Given the description of an element on the screen output the (x, y) to click on. 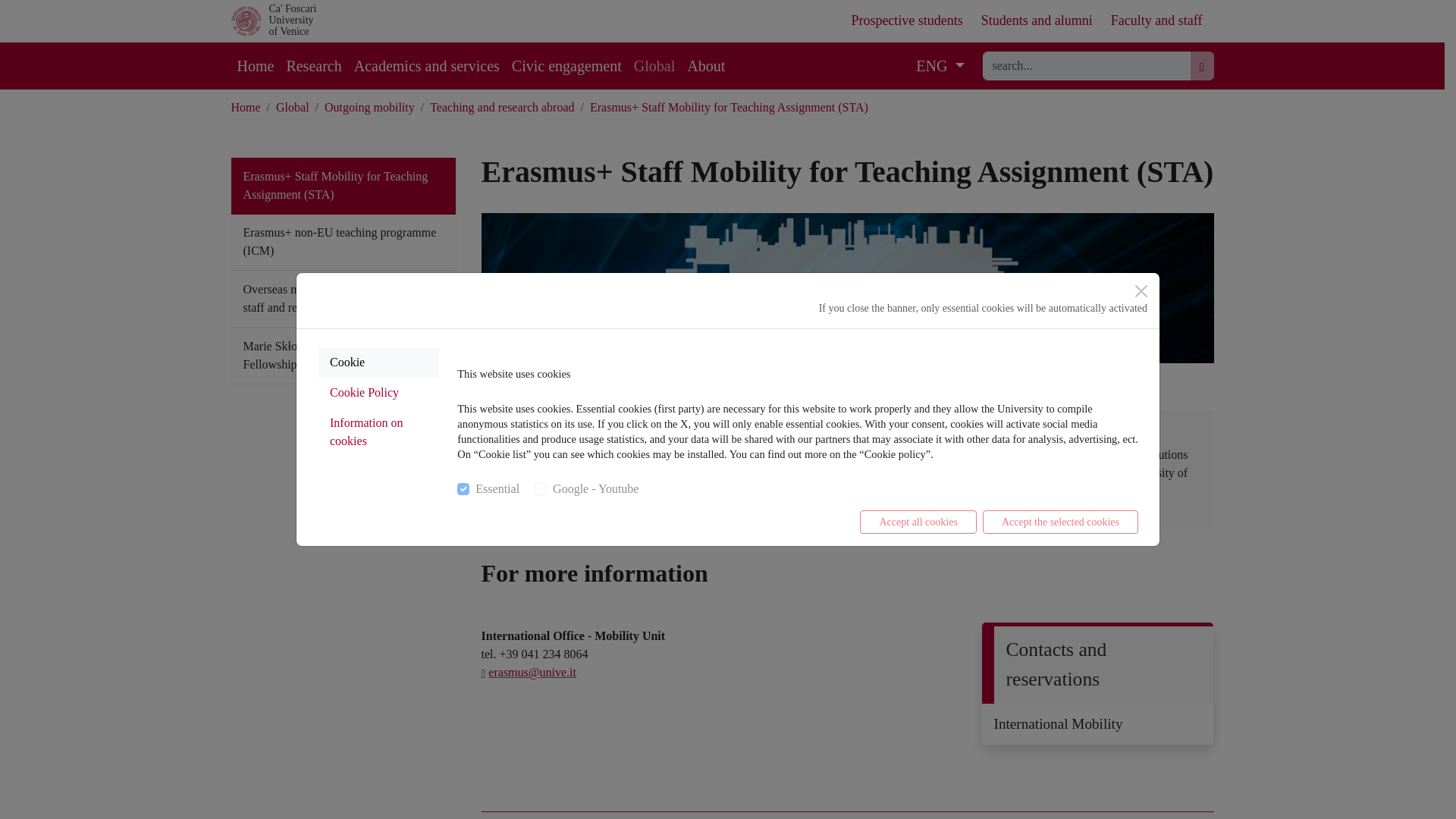
About (705, 65)
ENG (939, 65)
search (1086, 65)
Prospective students (906, 20)
Academics and services (426, 65)
International Mobility (1096, 723)
Students and alumni (1037, 20)
option1 (291, 18)
Home (462, 489)
Global (245, 106)
Teaching and research abroad (654, 65)
Faculty and staff (501, 106)
Home (1156, 20)
Research (254, 65)
